Given the description of an element on the screen output the (x, y) to click on. 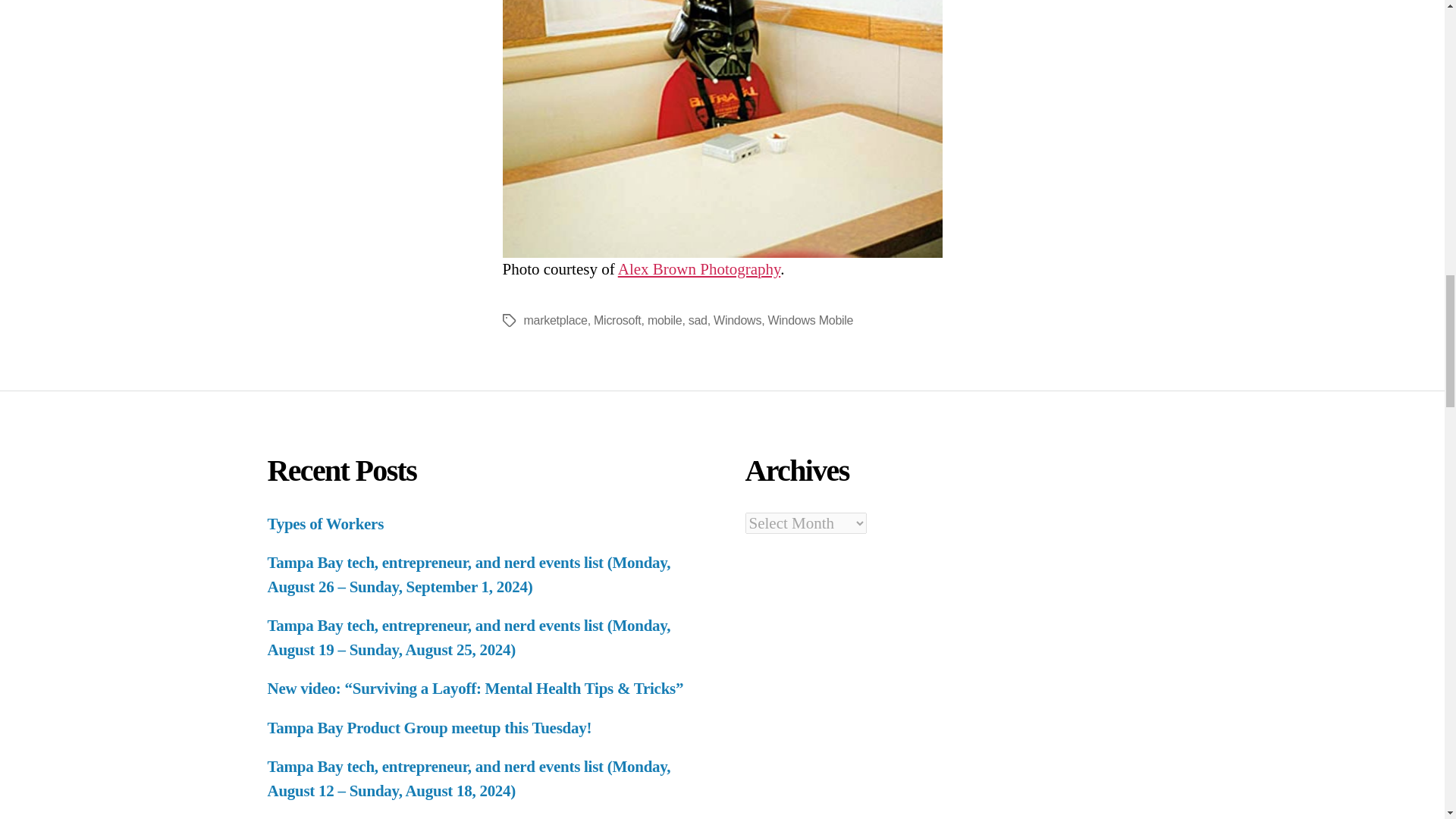
marketplace (554, 319)
mobile (664, 319)
Alex Brown Photography (698, 269)
Microsoft (617, 319)
sad (697, 319)
Windows (737, 319)
